Given the description of an element on the screen output the (x, y) to click on. 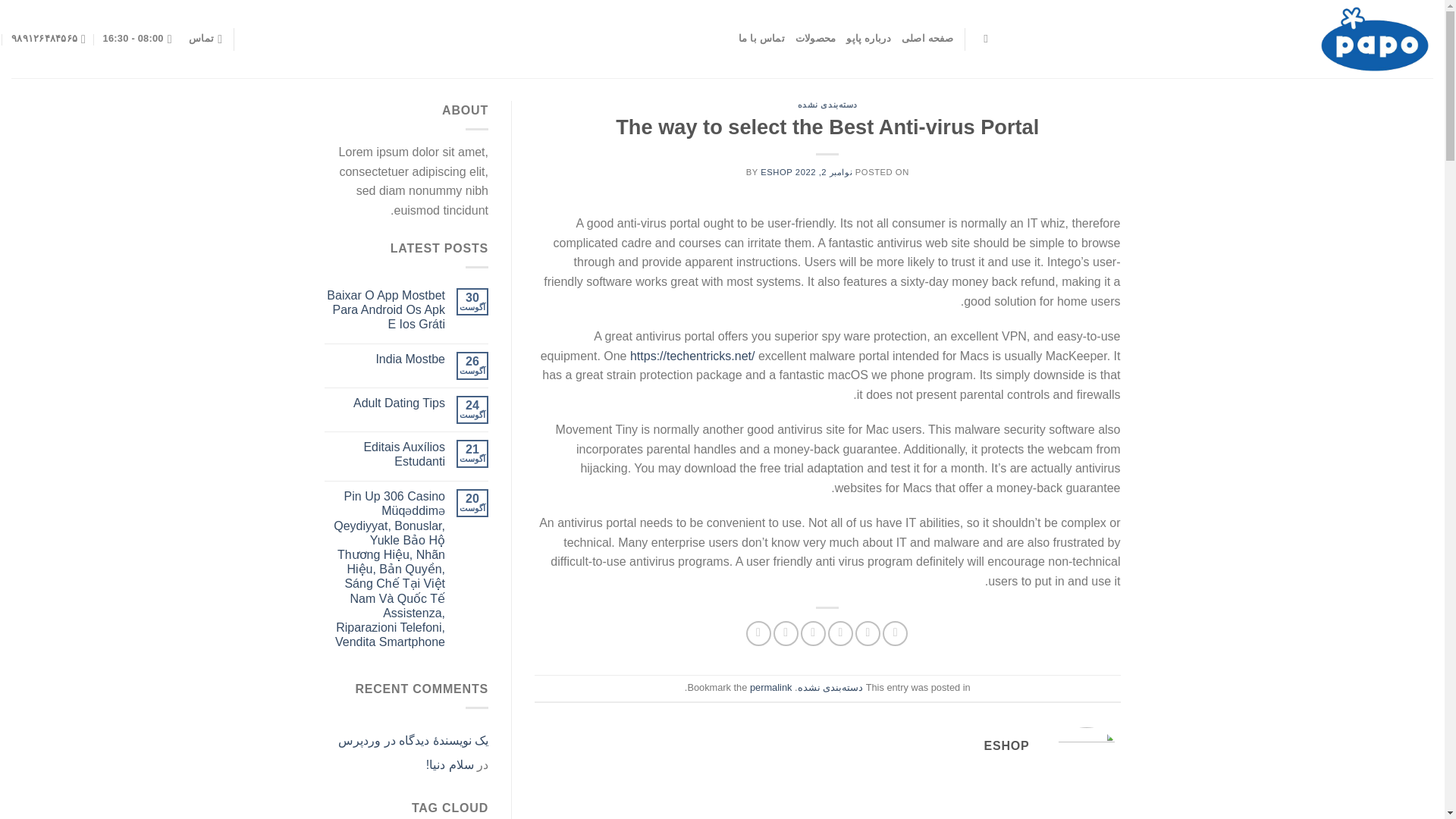
Permalink to The way to select the Best Anti-virus Portal (770, 686)
Adult Dating Tips (384, 402)
permalink (770, 686)
08:00 - 16:30  (137, 38)
India Mostbe (384, 359)
ESHOP (776, 171)
08:00 - 16:30 (137, 38)
